Given the description of an element on the screen output the (x, y) to click on. 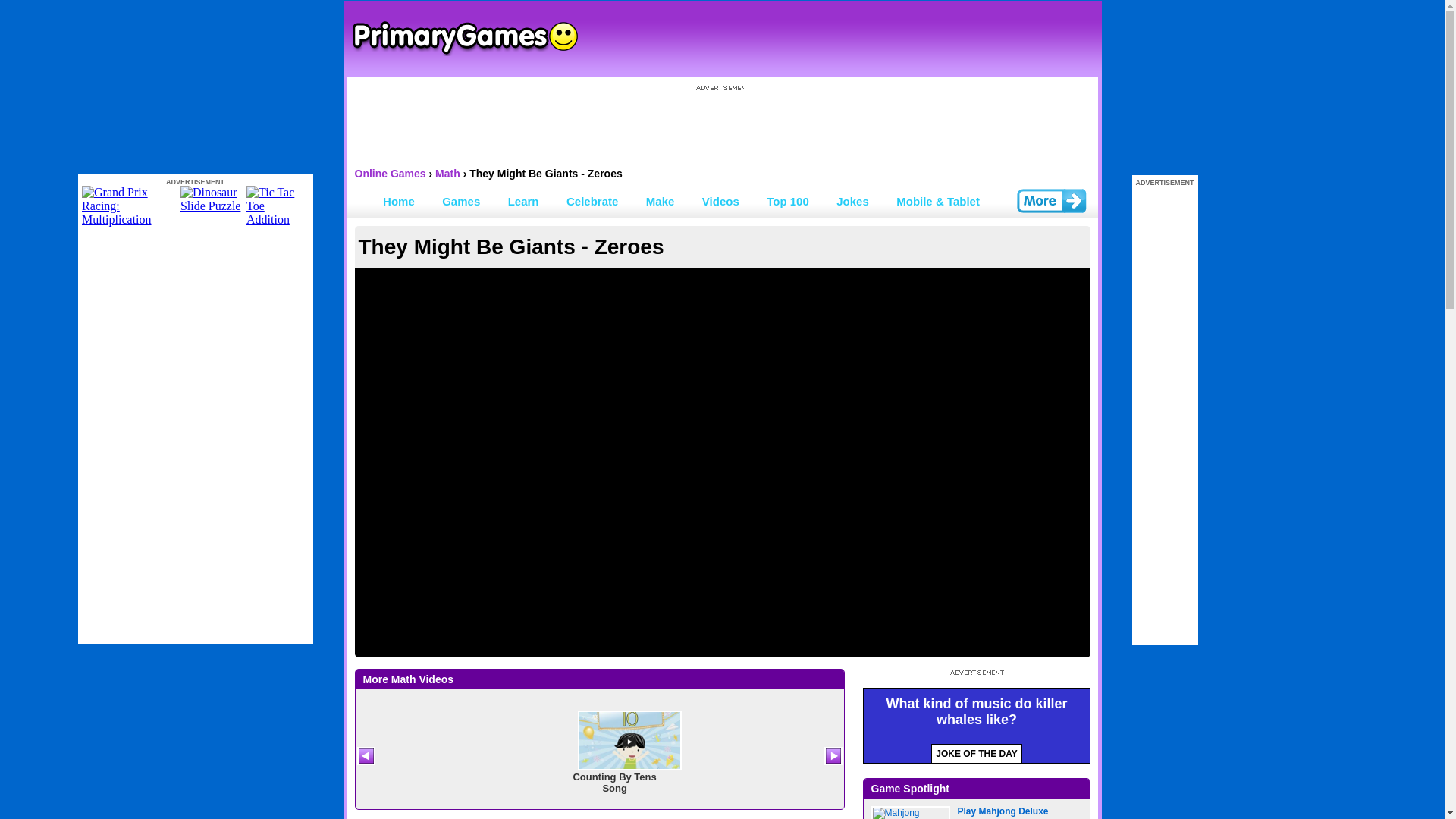
Math (447, 173)
Online Games at PrimaryGames.com (464, 38)
Learn (523, 200)
Online Games (390, 173)
Home (398, 200)
Counting By Tens Song (599, 757)
Games (460, 200)
